Given the description of an element on the screen output the (x, y) to click on. 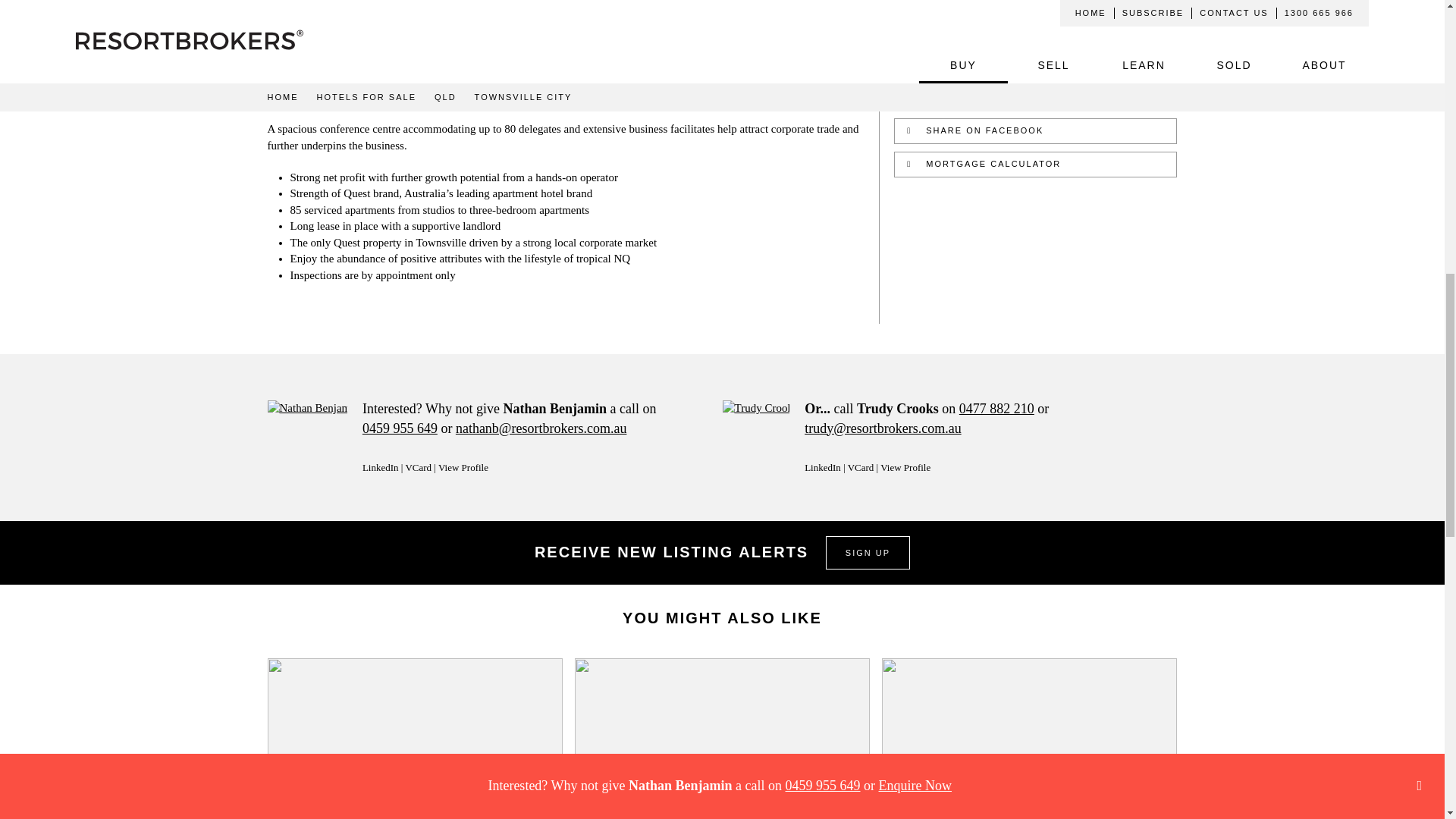
Share on LinkedIn (1034, 98)
View Agent Profile (905, 467)
Trudy Crooks (755, 437)
Share on Facebook (1034, 130)
Nathan Benjamin (306, 437)
View Agent Profile (462, 467)
